Given the description of an element on the screen output the (x, y) to click on. 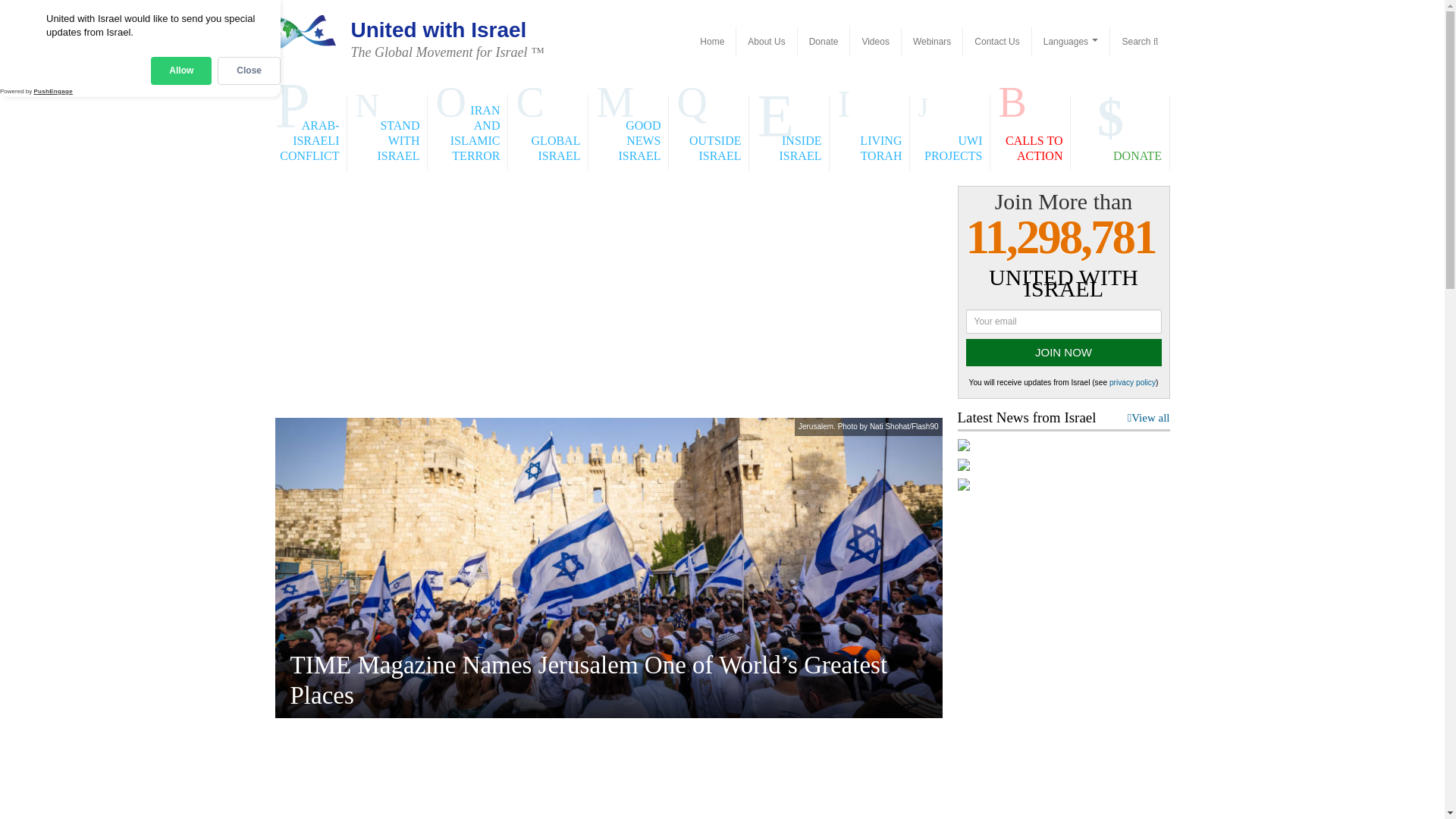
United with Israel (711, 41)
Videos (874, 41)
Donate (823, 41)
Webinars (931, 41)
Languages (1070, 41)
Join Now (1063, 352)
About Us (766, 41)
Home (711, 41)
Advertisement (608, 775)
Contact Us (996, 41)
Search (1139, 41)
